Given the description of an element on the screen output the (x, y) to click on. 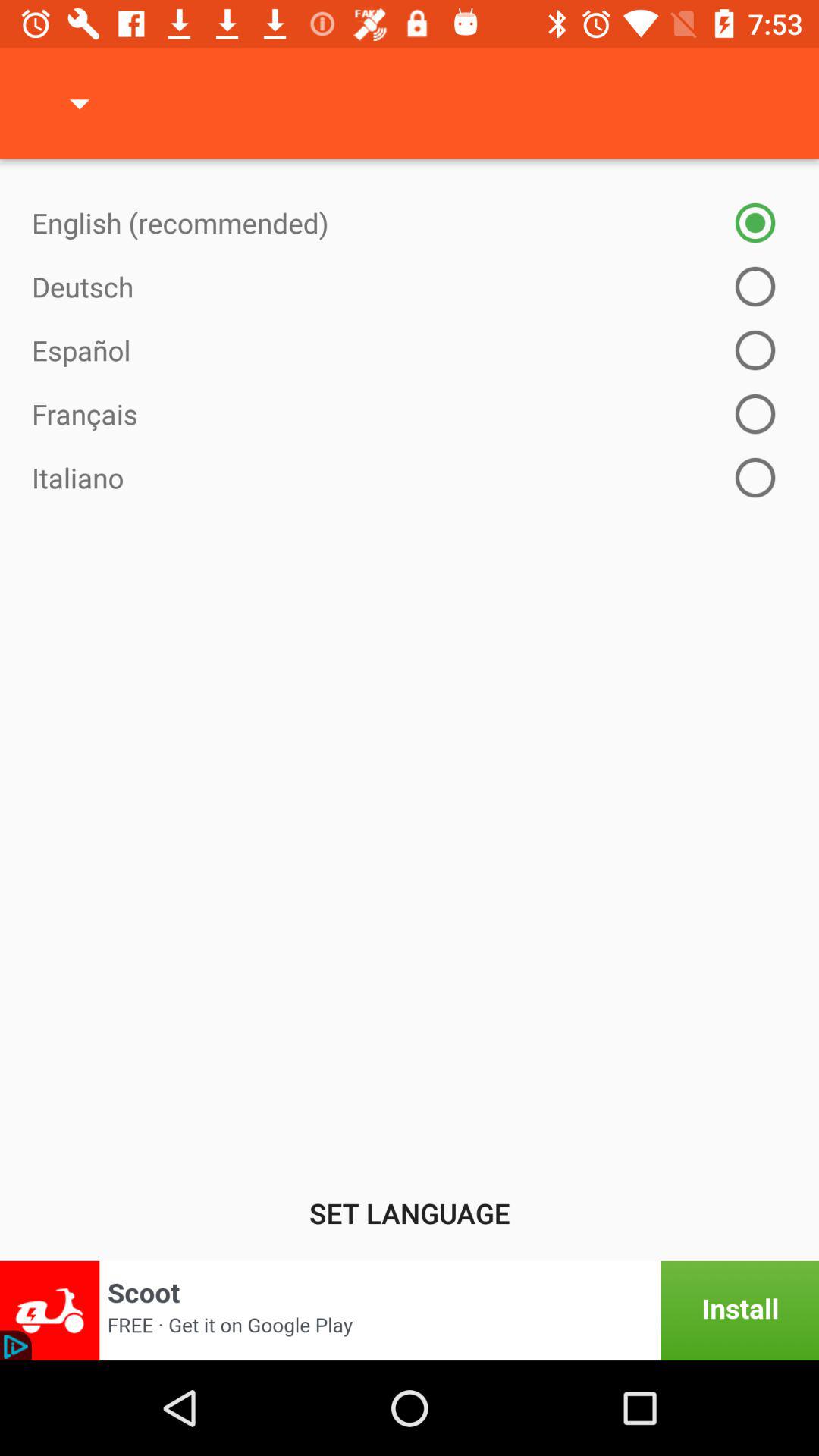
opens third party add (409, 1310)
